Given the description of an element on the screen output the (x, y) to click on. 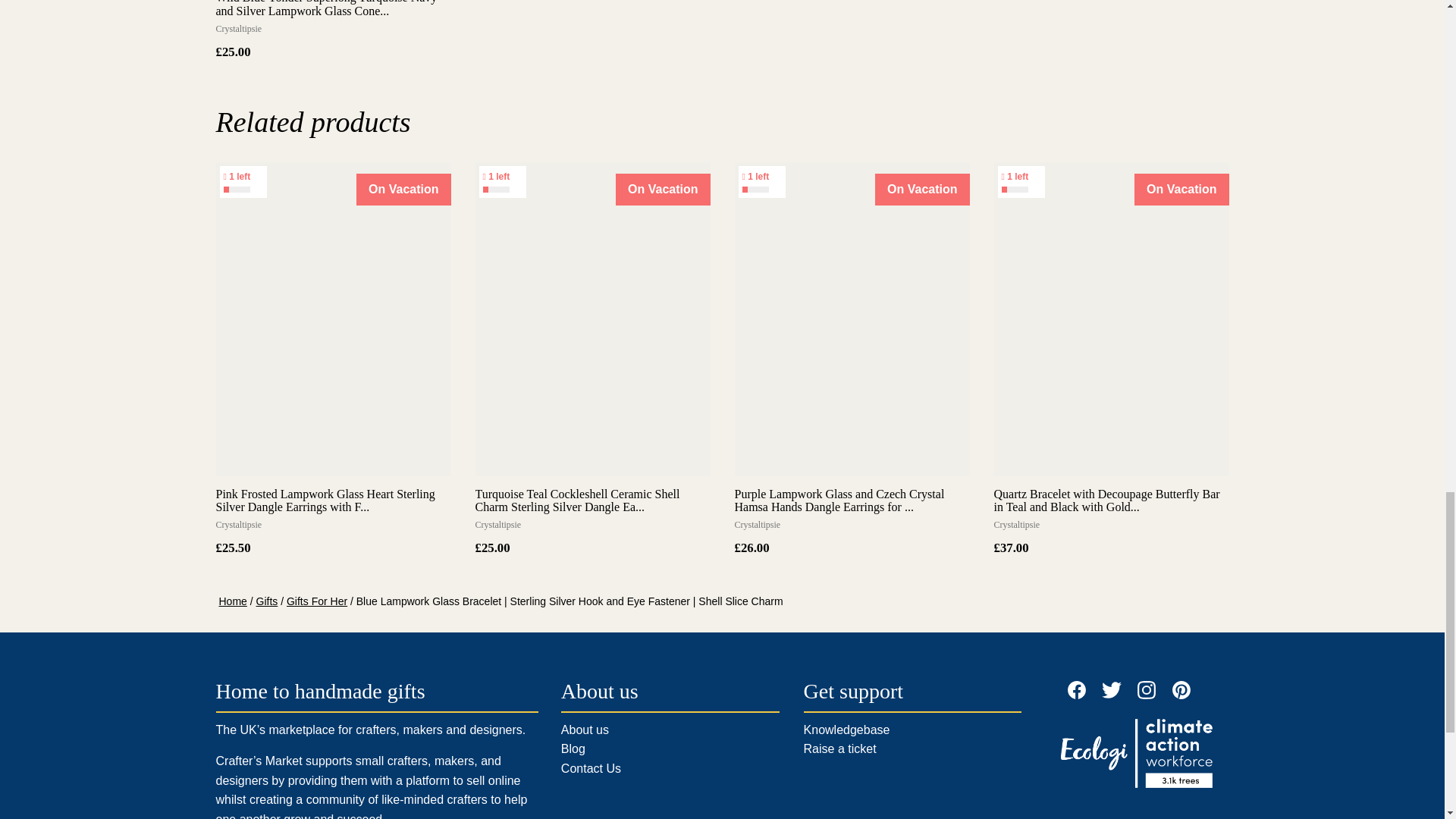
Crafter's Market UK Pinterest (1181, 690)
Crafter's Market UK Twitter (1111, 690)
Crafter's Market UK Instagram (1146, 690)
Crafter's Market UK Facebook (1076, 690)
